Given the description of an element on the screen output the (x, y) to click on. 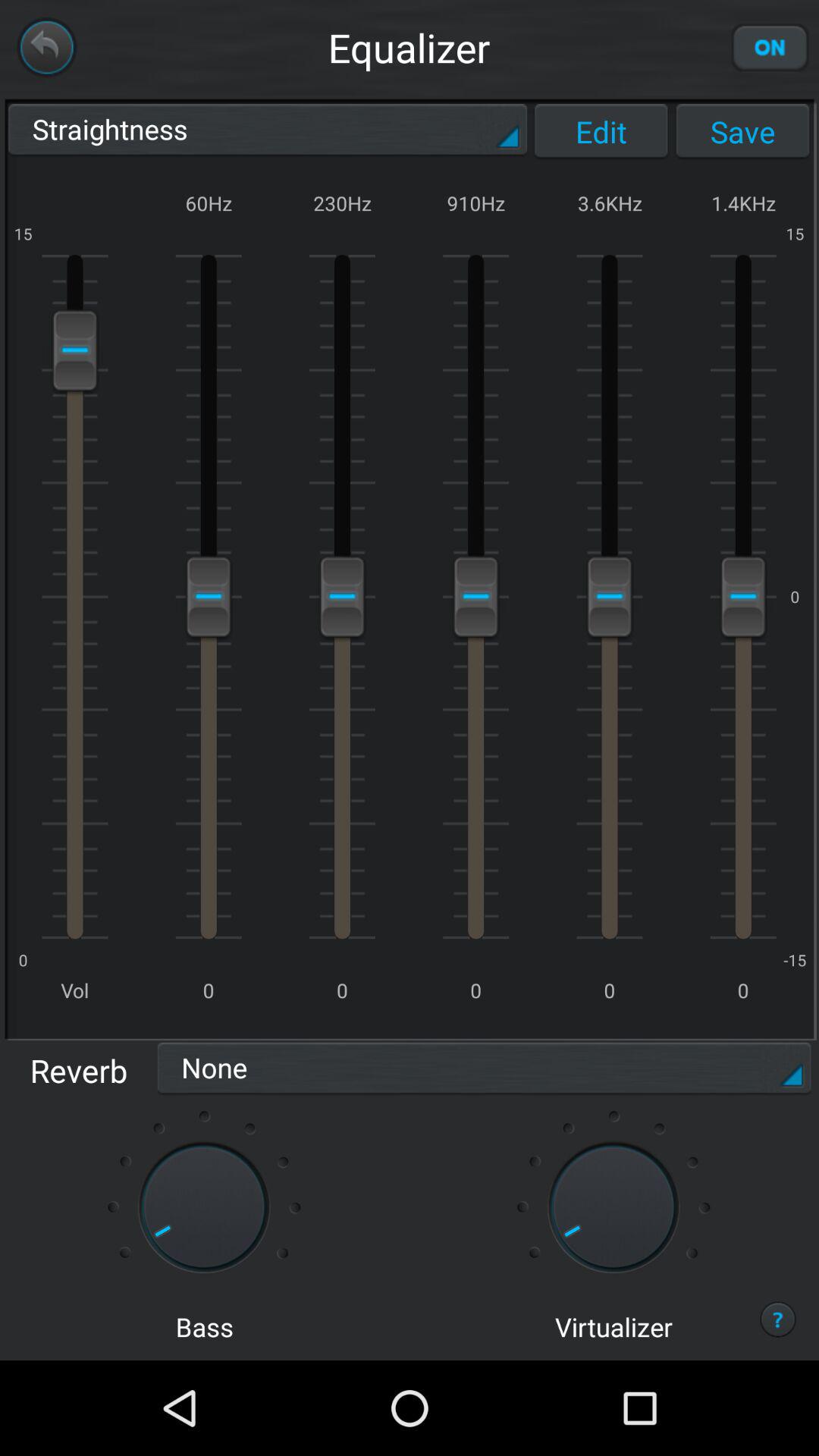
go to top most left (46, 47)
click on on text button to the right of equalizer text (770, 48)
select straighntness which is before edit button on the page (267, 131)
click on the question mark icon at the bottom right of the page (777, 1318)
